Given the description of an element on the screen output the (x, y) to click on. 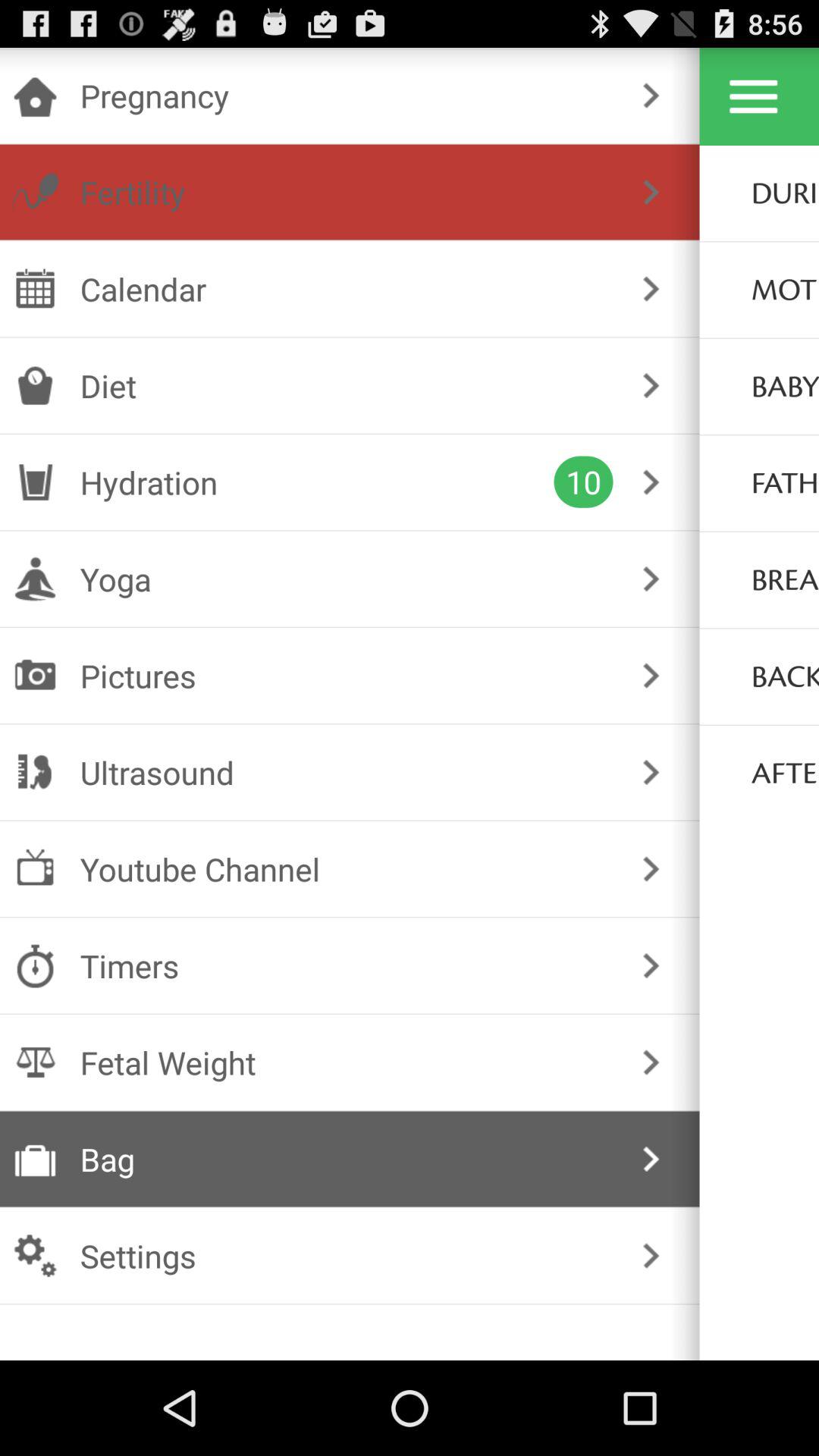
turn off the icon below the diet checkbox (316, 481)
